Given the description of an element on the screen output the (x, y) to click on. 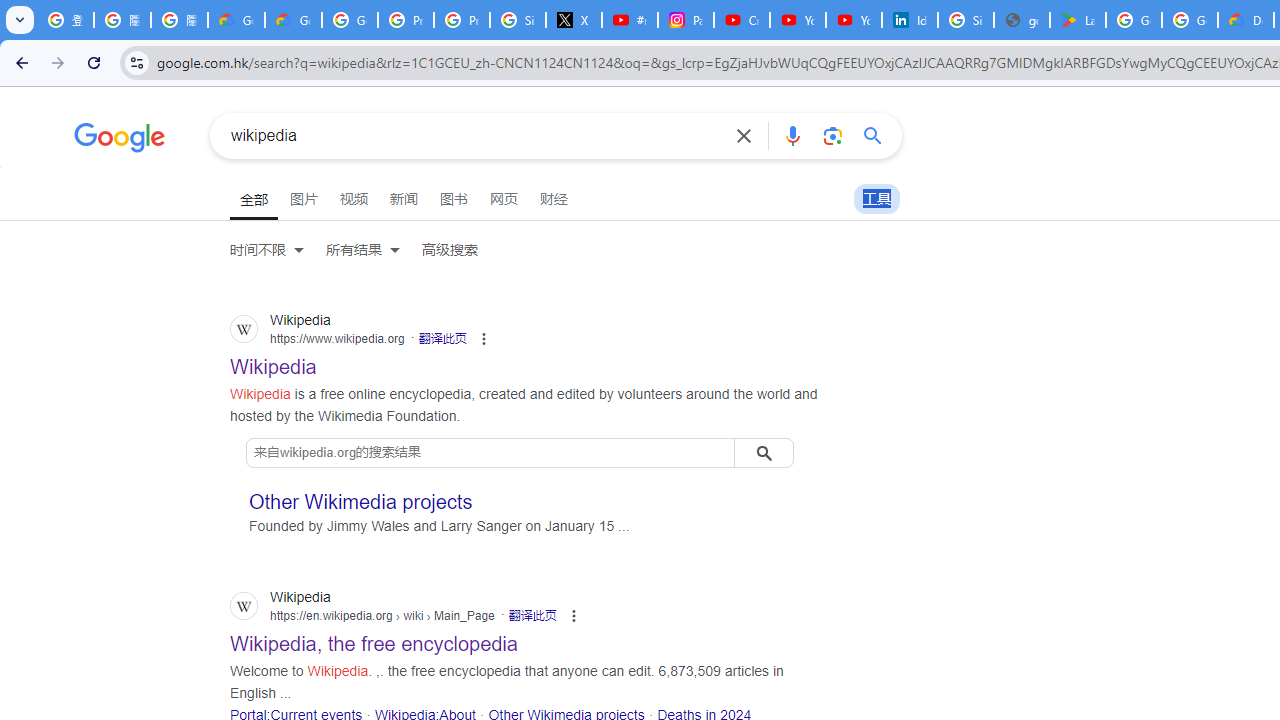
 Wikipedia Wikipedia https://www.wikipedia.org (273, 361)
